Given the description of an element on the screen output the (x, y) to click on. 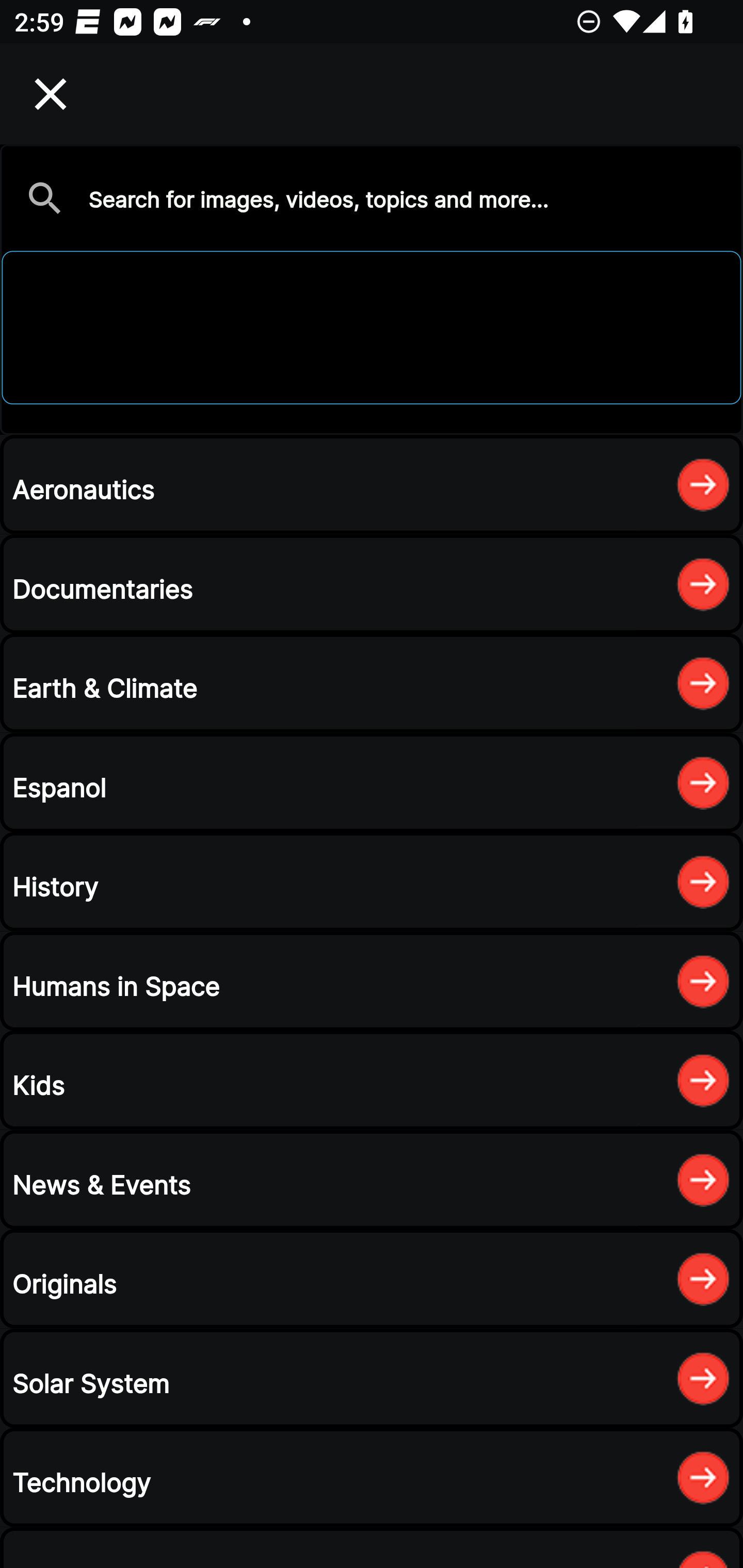
SpaceX (371, 289)
Aeronautics (371, 484)
Documentaries (371, 583)
Earth & Climate (371, 682)
Espanol (371, 782)
History (371, 881)
Humans in Space (371, 980)
Kids (371, 1080)
News & Events (371, 1179)
Originals (371, 1278)
Solar System (371, 1378)
Technology (371, 1477)
